Given the description of an element on the screen output the (x, y) to click on. 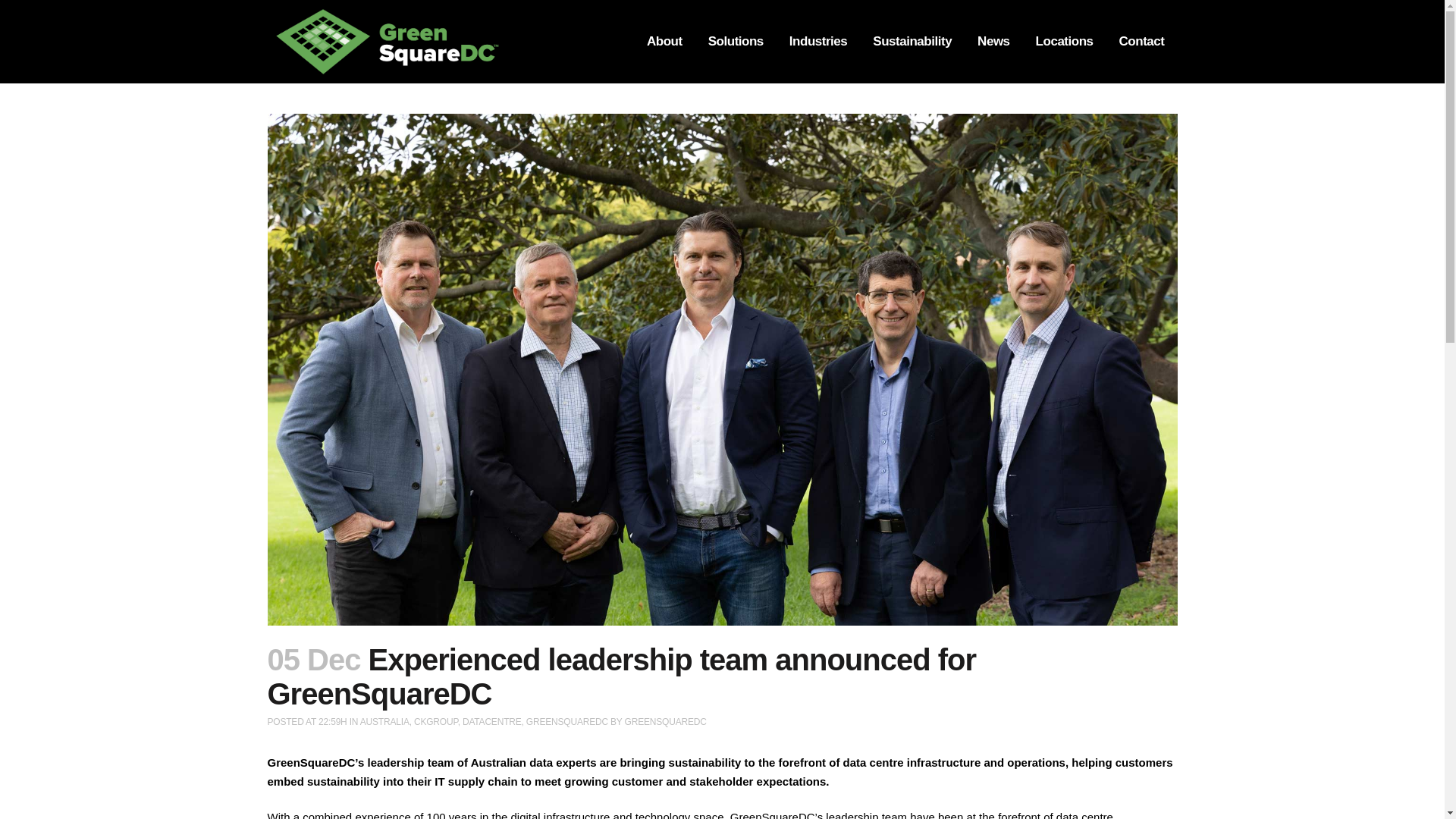
Sustainability (911, 41)
Locations (1064, 41)
GREENSQUAREDC (566, 721)
Industries (818, 41)
DATACENTRE (492, 721)
AUSTRALIA (384, 721)
GREENSQUAREDC (665, 721)
CKGROUP (435, 721)
Solutions (735, 41)
